Given the description of an element on the screen output the (x, y) to click on. 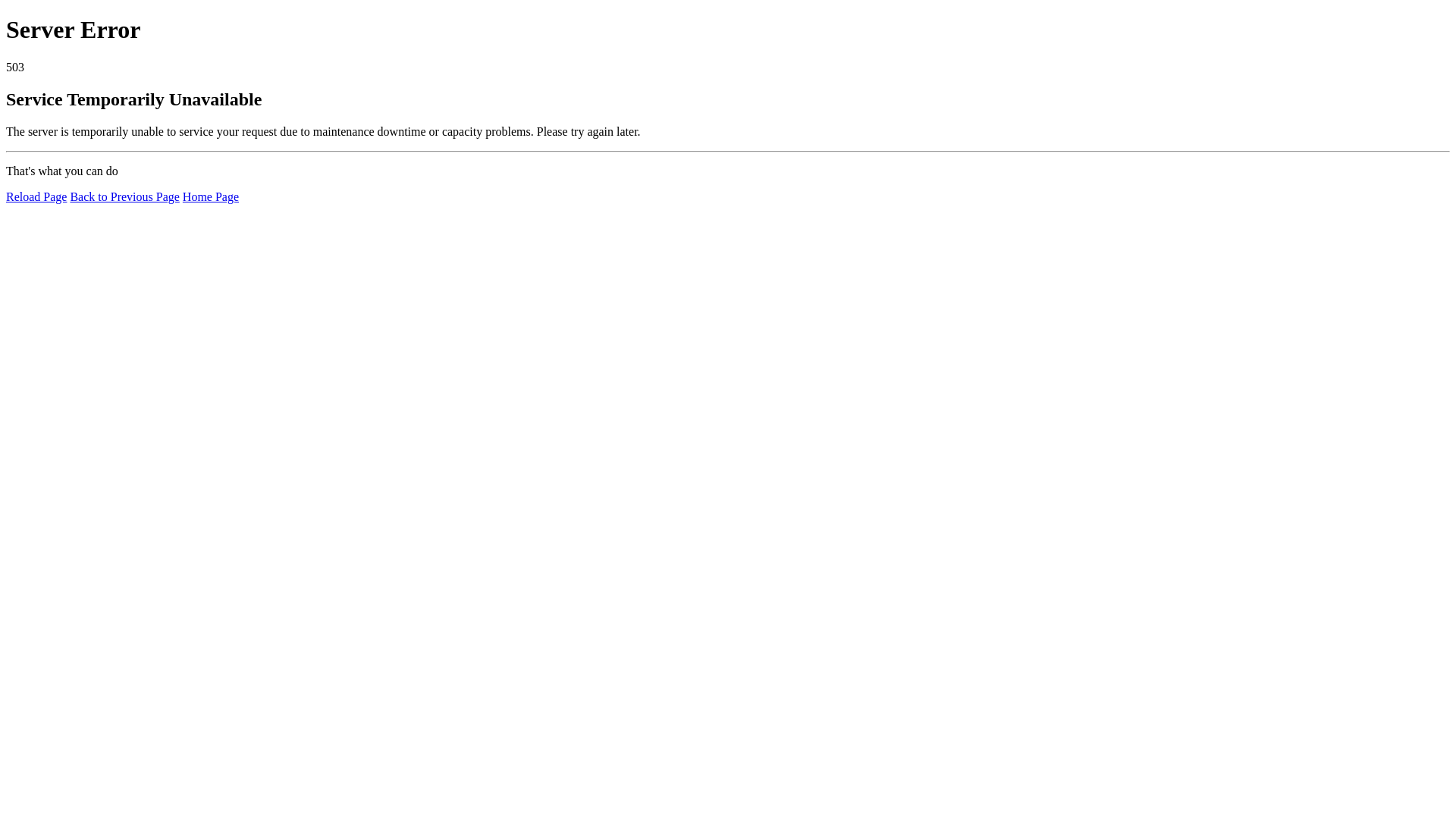
Reload Page Element type: text (36, 196)
Home Page Element type: text (210, 196)
Back to Previous Page Element type: text (123, 196)
